Given the description of an element on the screen output the (x, y) to click on. 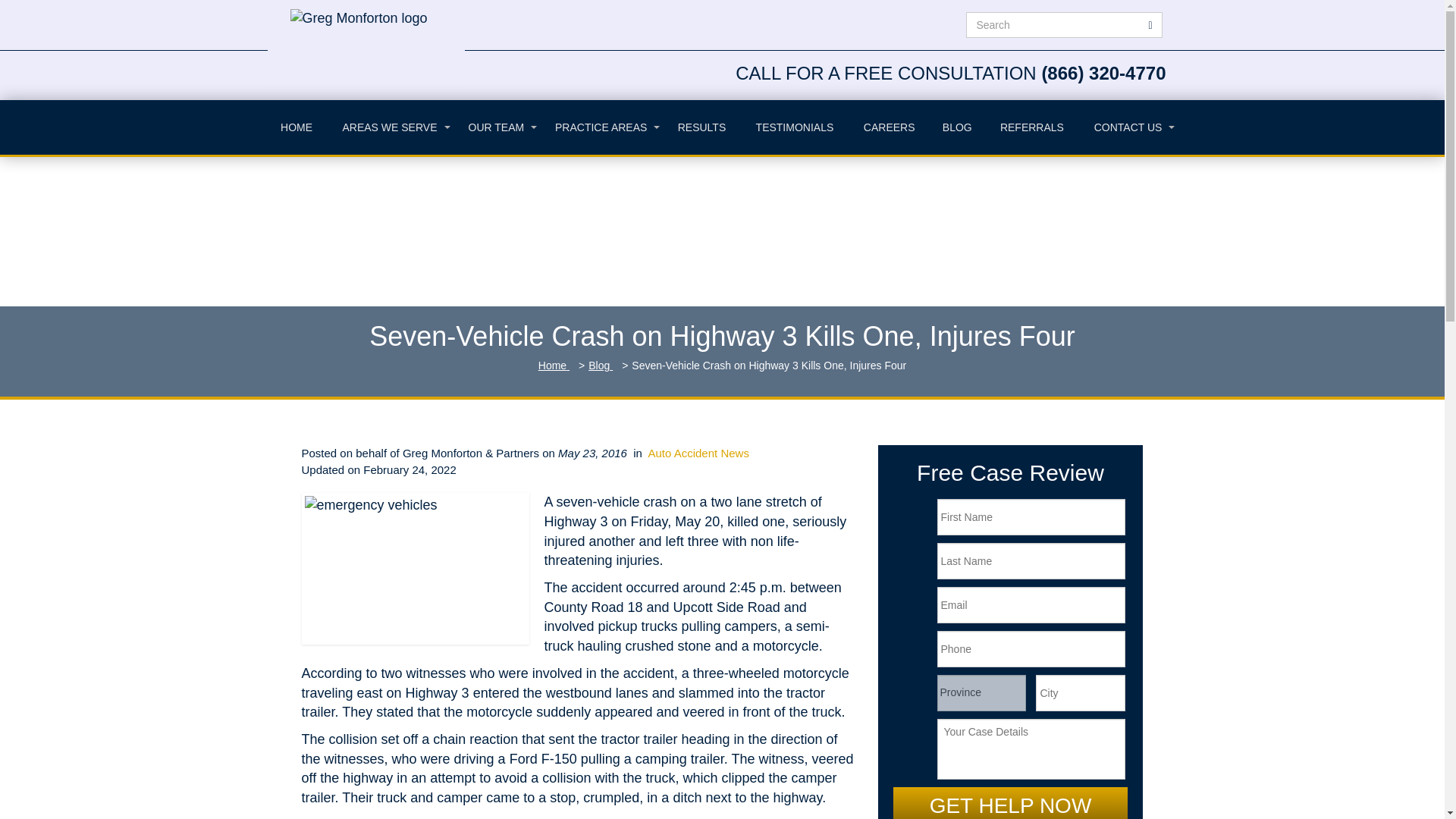
HOME (295, 126)
Get Help Now (1010, 803)
PRACTICE AREAS (600, 126)
OUR TEAM (495, 126)
AREAS WE SERVE (390, 126)
